Given the description of an element on the screen output the (x, y) to click on. 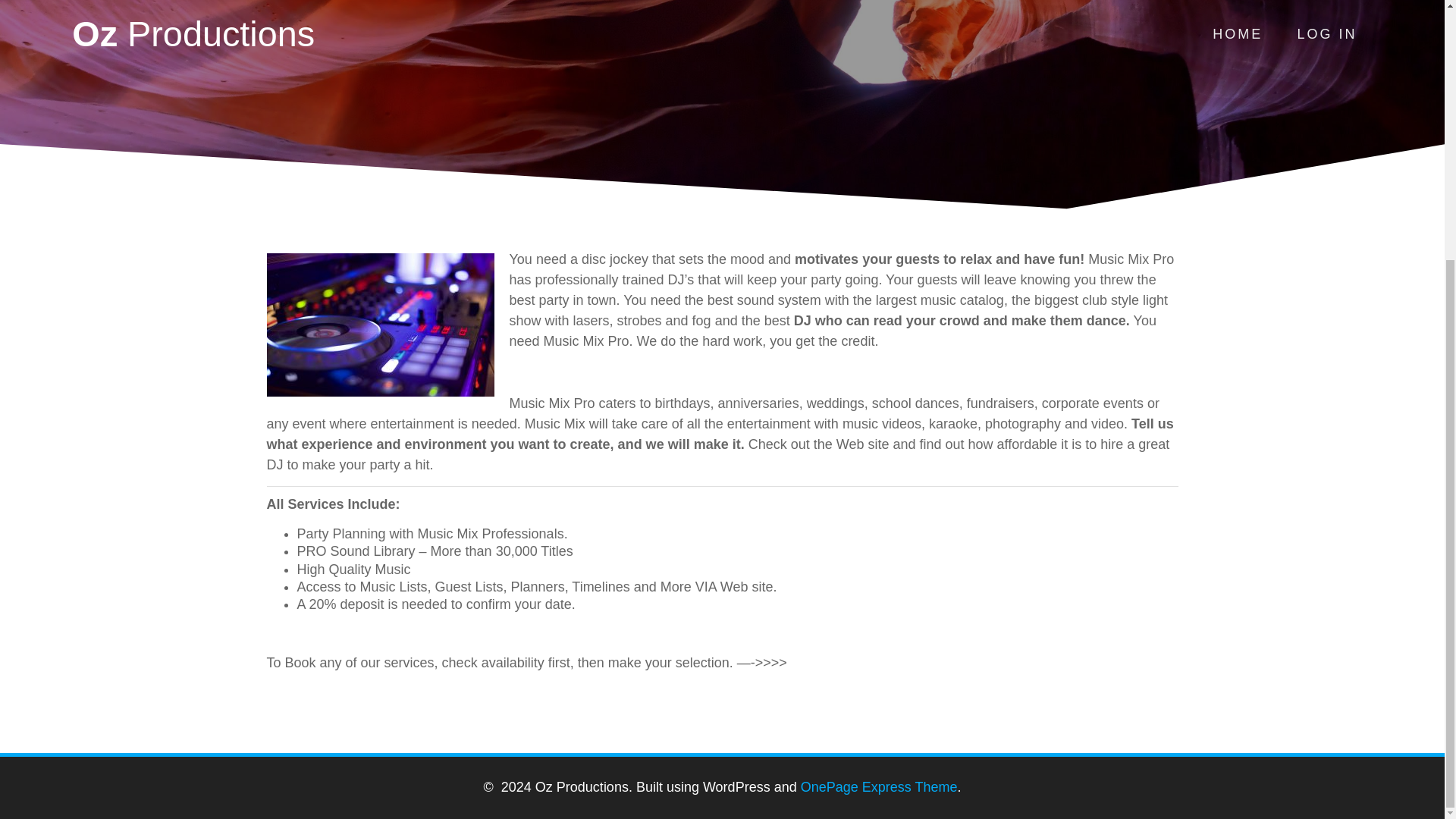
OnePage Express Theme (879, 786)
